Given the description of an element on the screen output the (x, y) to click on. 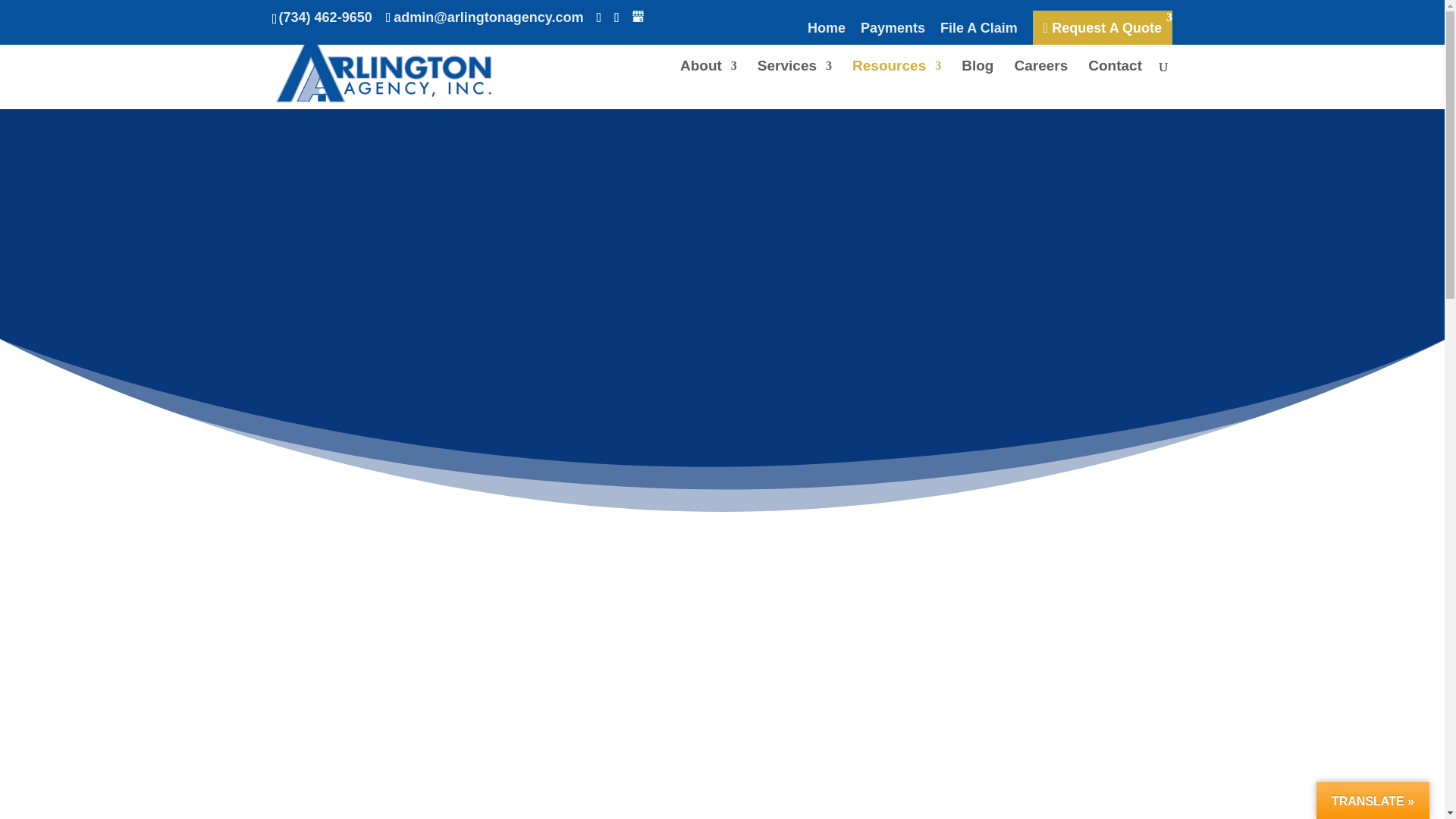
Blog (976, 84)
Request A Quote (1102, 27)
About (707, 84)
Payments (892, 33)
File A Claim (978, 33)
Home (826, 33)
Services (794, 84)
Resources (895, 84)
